Given the description of an element on the screen output the (x, y) to click on. 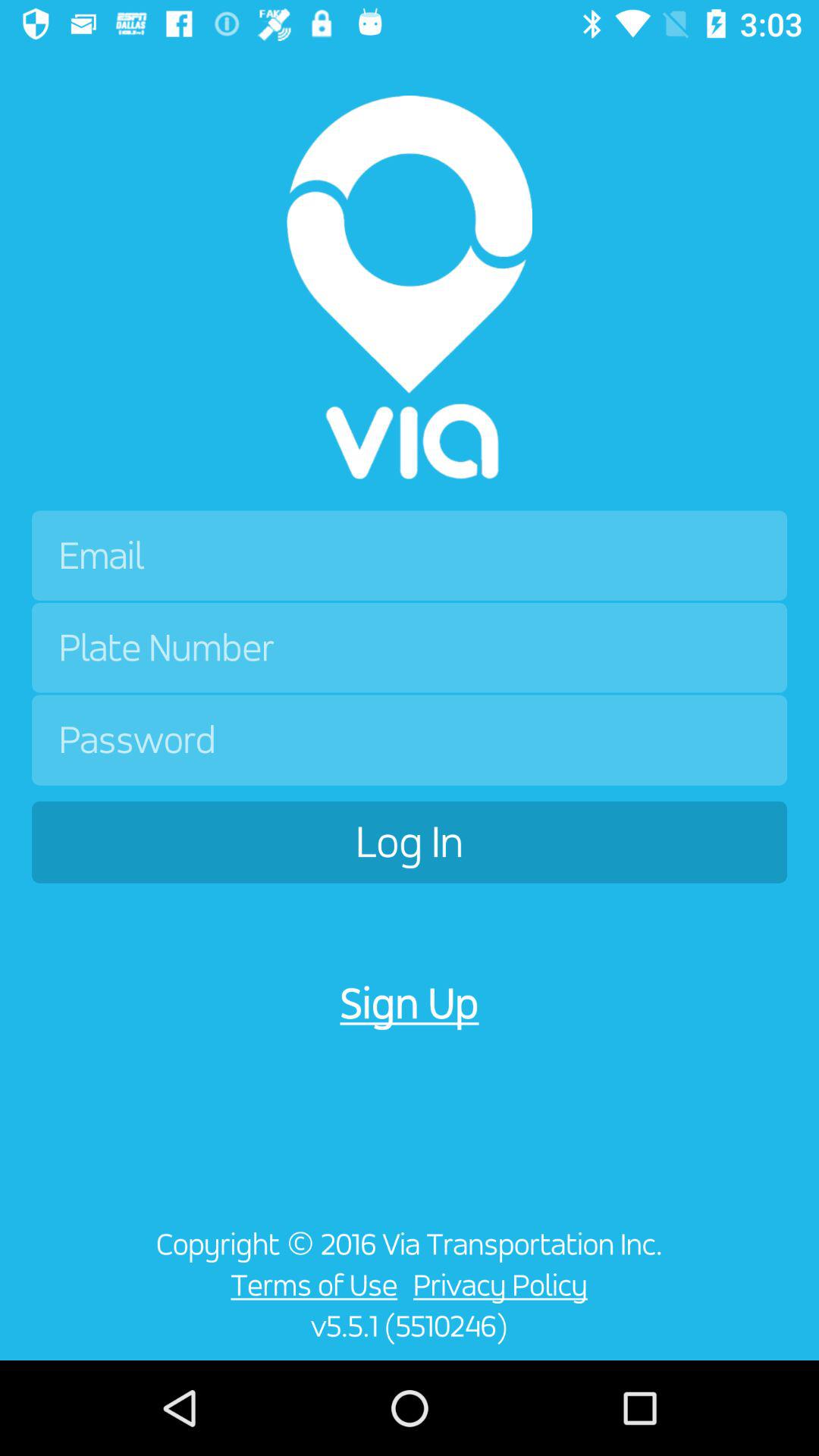
turn on the terms of use (309, 1284)
